Given the description of an element on the screen output the (x, y) to click on. 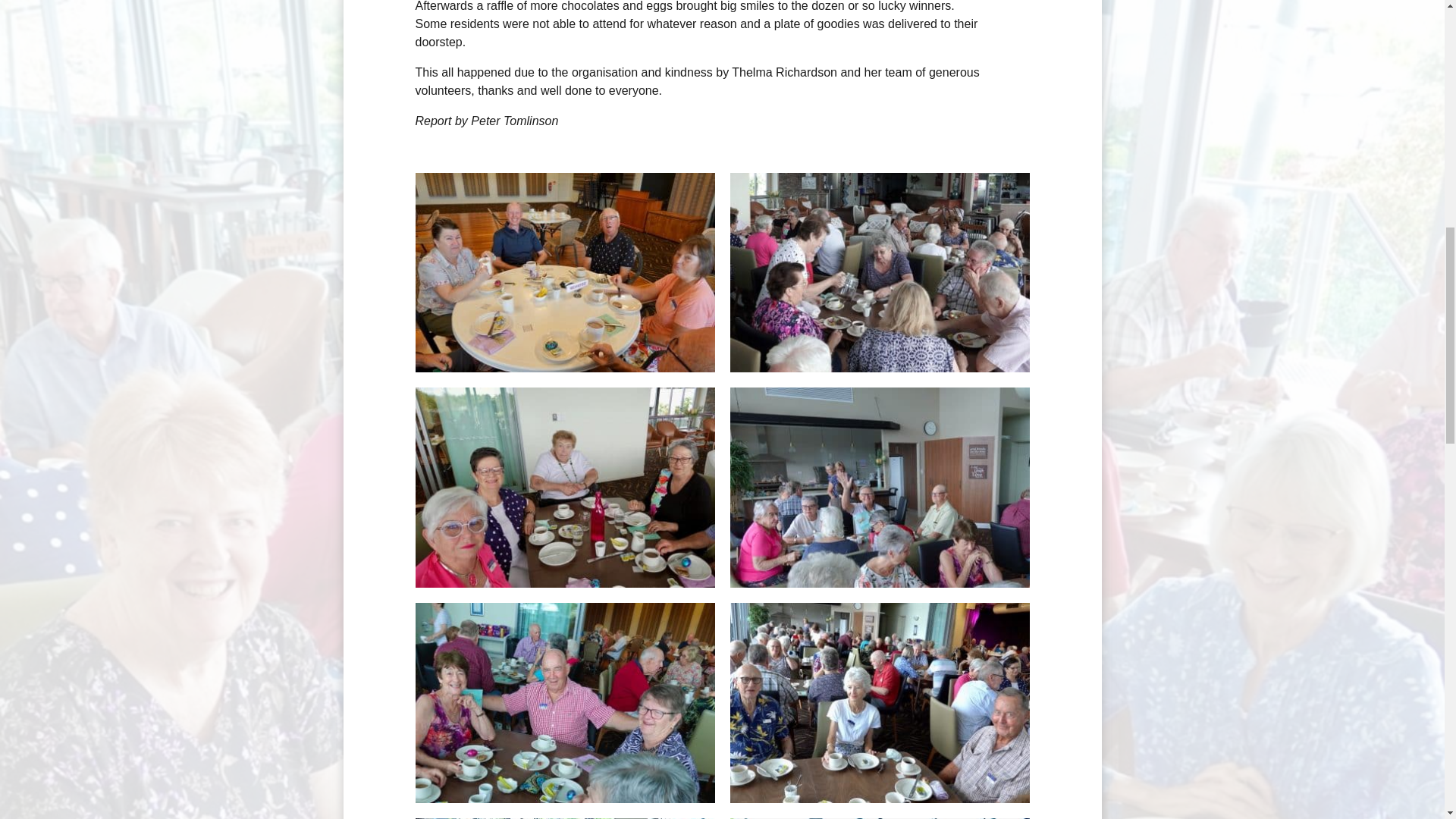
Pic 15 (564, 487)
Pic 14 (879, 272)
Pic 3 (879, 702)
Pic 1 (879, 487)
Pic 13 (564, 272)
Pic 2 (564, 702)
